Given the description of an element on the screen output the (x, y) to click on. 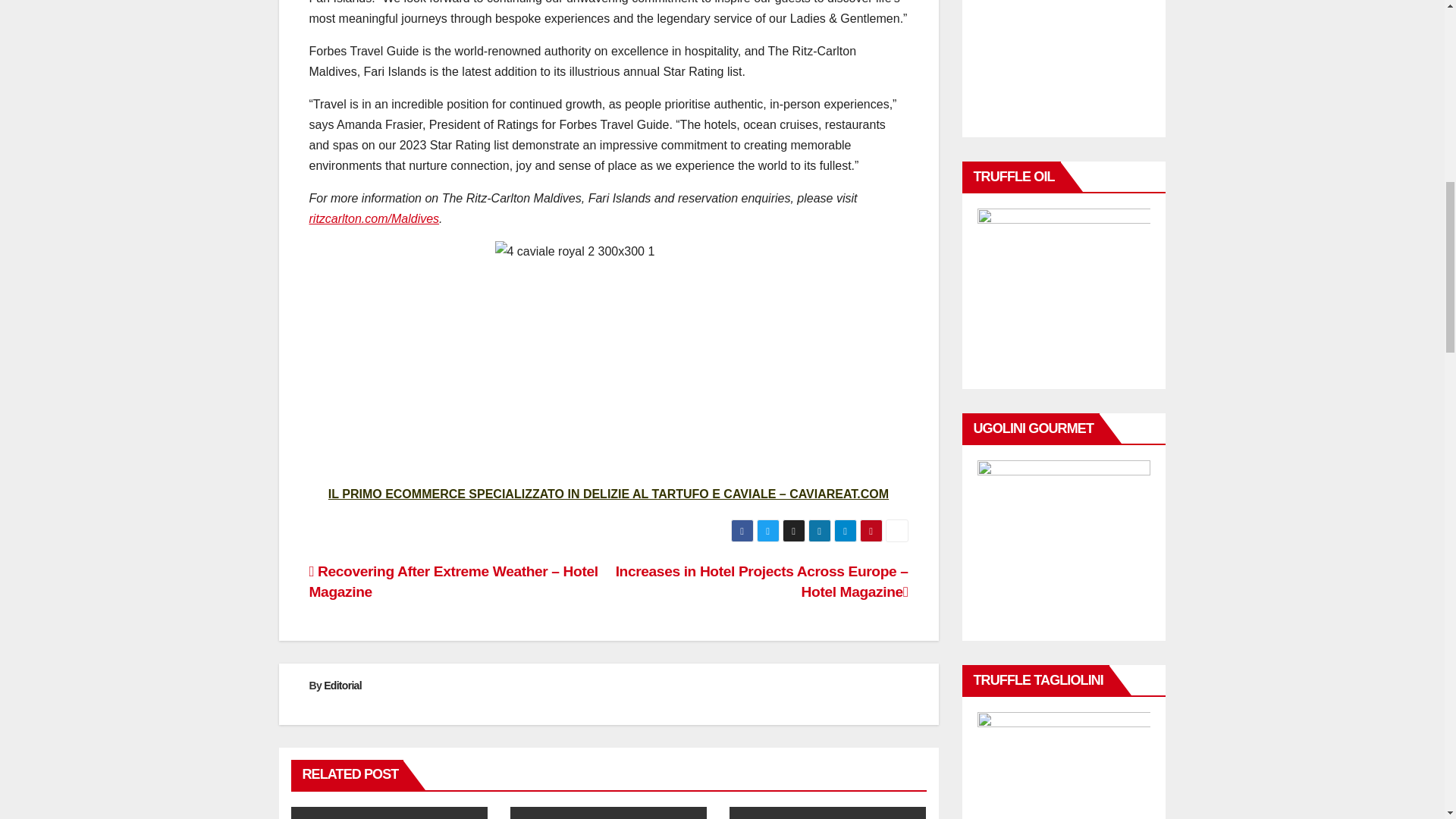
Editorial (342, 685)
